Given the description of an element on the screen output the (x, y) to click on. 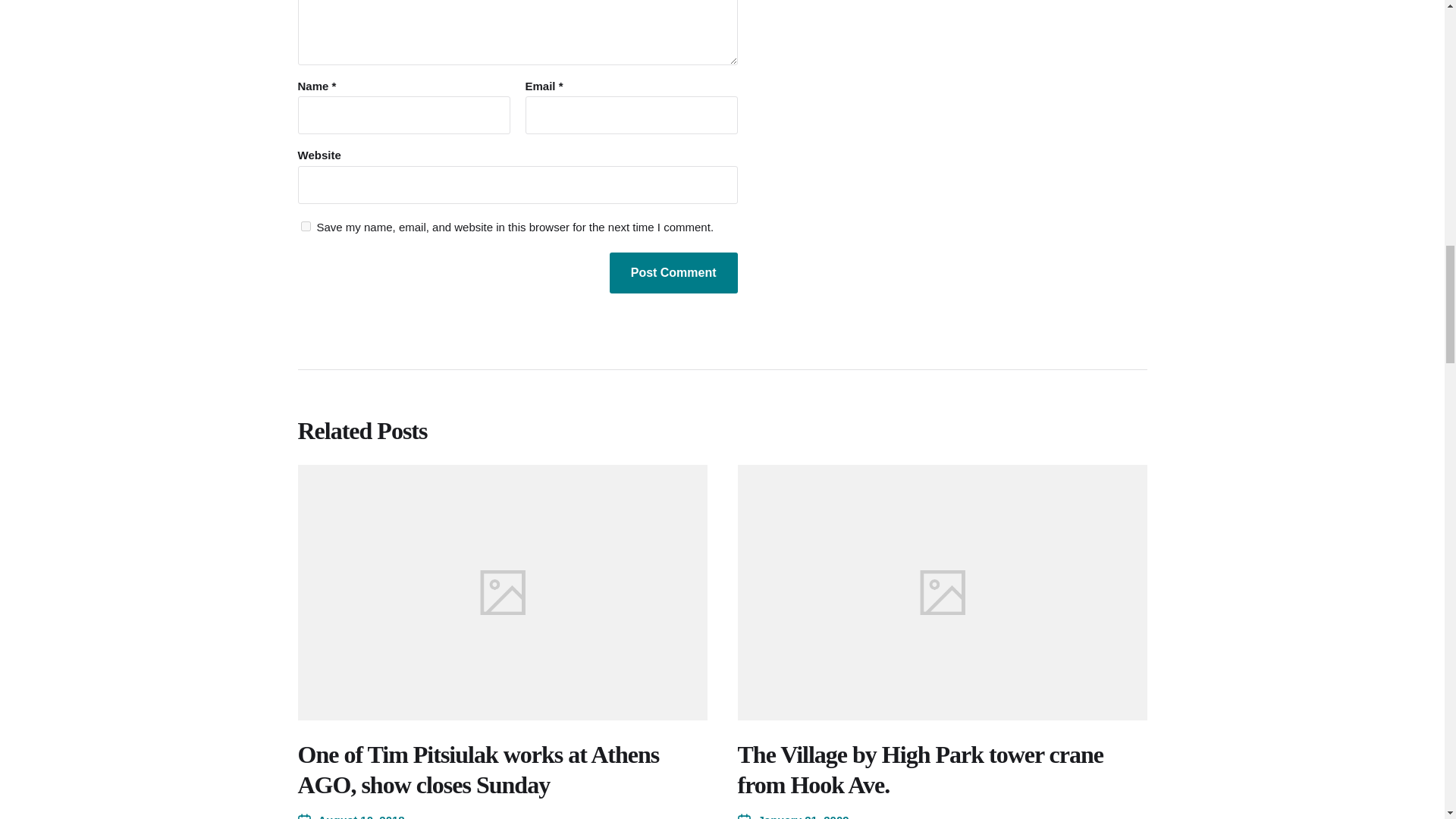
Post Comment (674, 272)
Post Comment (674, 272)
yes (304, 225)
One of Tim Pitsiulak works at Athens AGO, show closes Sunday (478, 769)
